Given the description of an element on the screen output the (x, y) to click on. 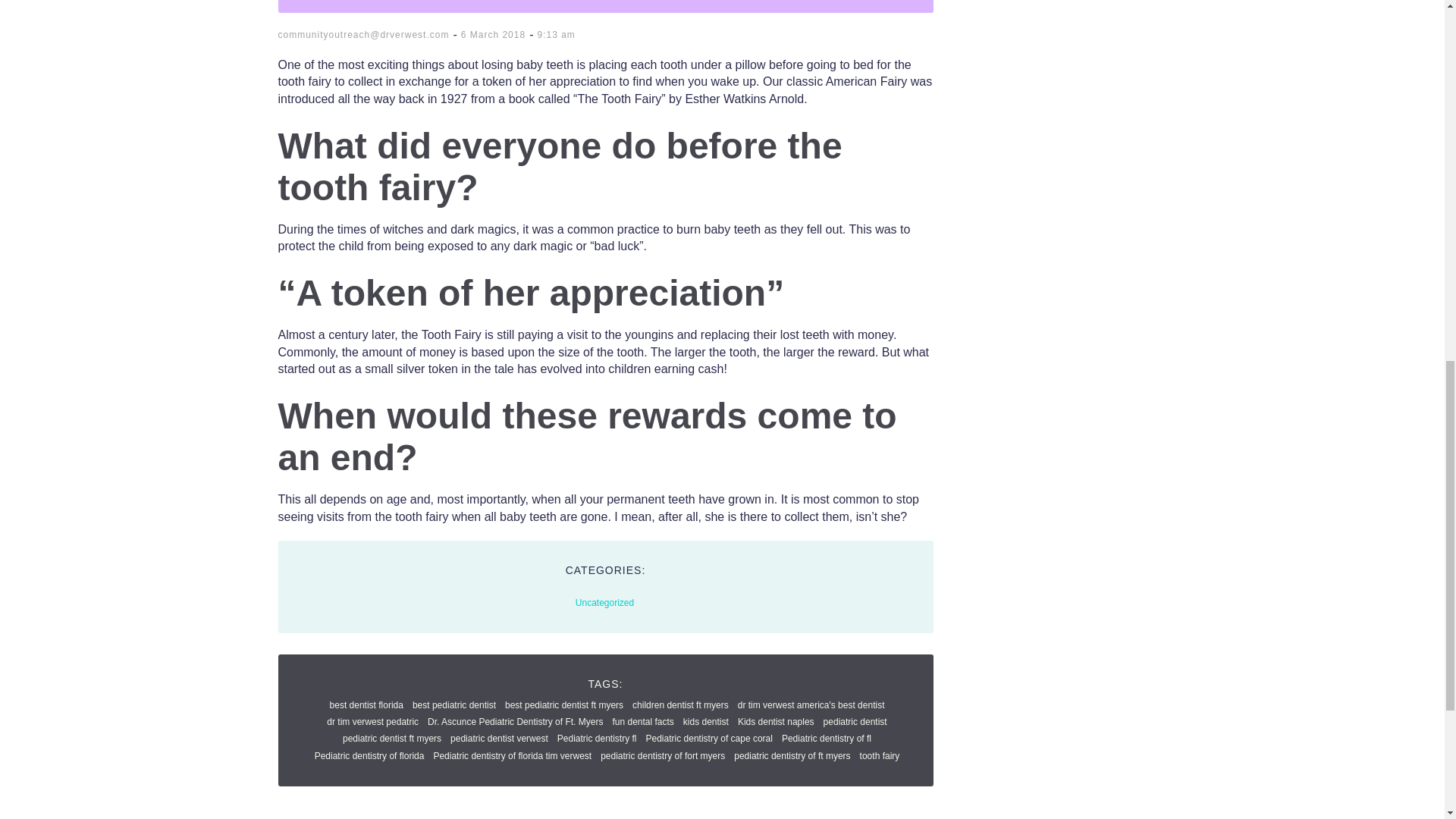
Pediatric dentistry of fl (826, 738)
pediatric dentist (855, 721)
Pediatric dentistry fl (597, 738)
kids dentist (705, 721)
fun dental facts (642, 721)
Uncategorized (604, 602)
best pediatric dentist ft myers (564, 705)
pediatric dentist verwest (498, 738)
tooth fairy (879, 756)
Dr. Ascunce Pediatric Dentistry of Ft. Myers (515, 721)
Kids dentist naples (775, 721)
pediatric dentistry of fort myers (662, 756)
children dentist ft myers (680, 705)
dr tim verwest pedatric (372, 721)
pediatric dentist ft myers (391, 738)
